Given the description of an element on the screen output the (x, y) to click on. 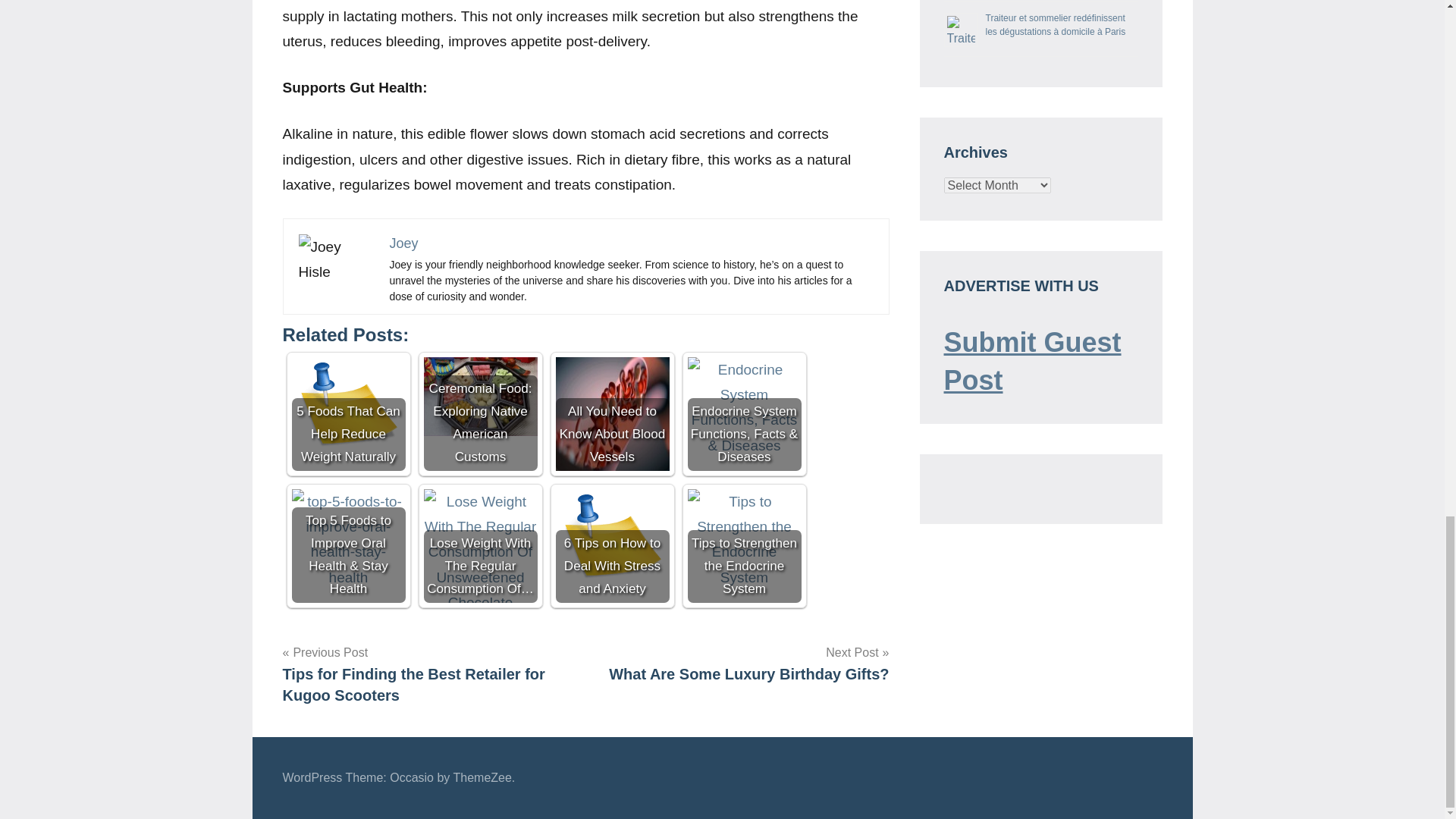
Joey Hisle (336, 259)
All You Need to Know About Blood Vessels (611, 413)
6 Tips on How to Deal With Stress and Anxiety (611, 545)
Tips to Strengthen the Endocrine System (743, 538)
Ceremonial Food: Exploring Native American Customs (480, 396)
